Given the description of an element on the screen output the (x, y) to click on. 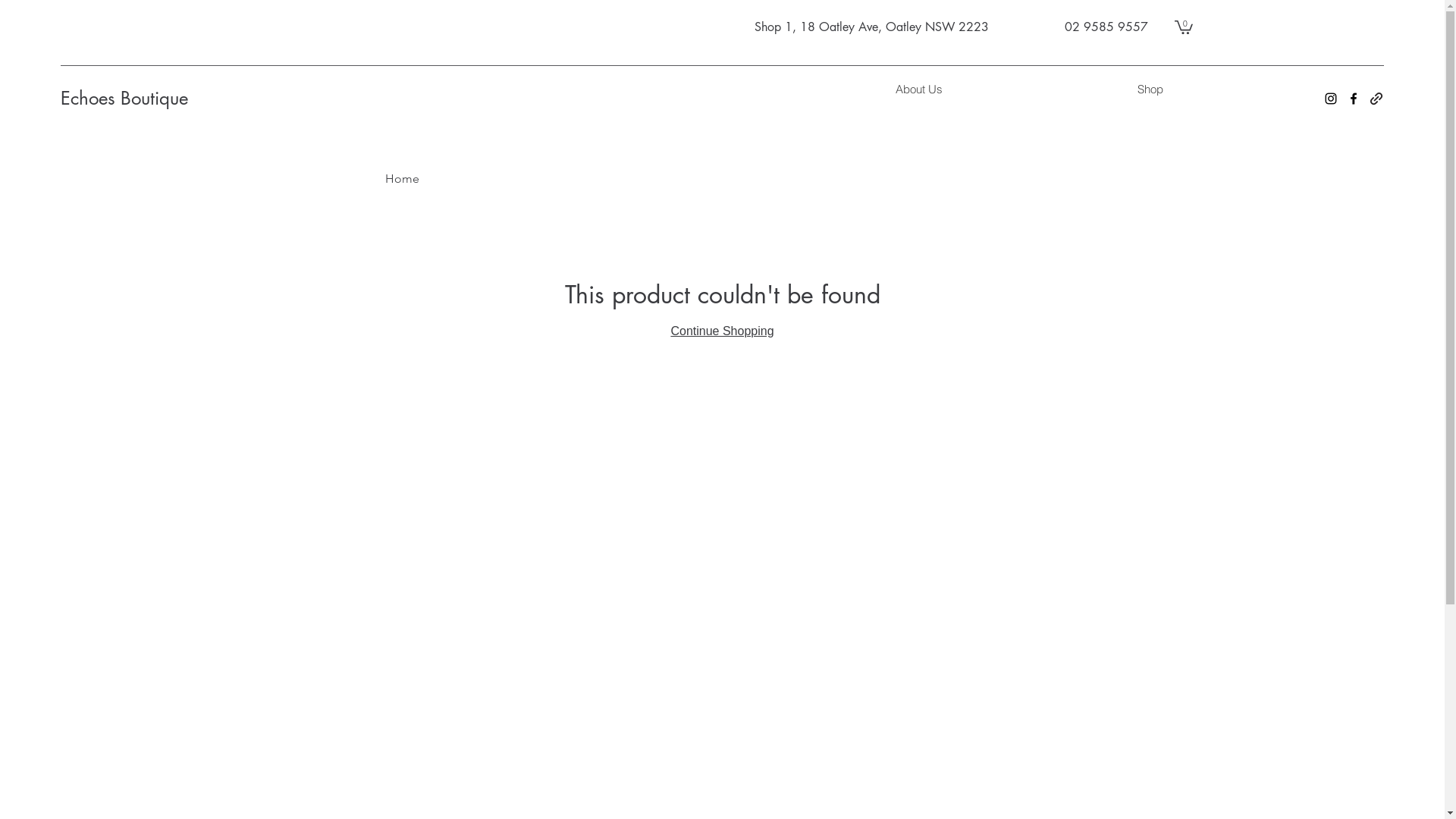
About Us Element type: text (918, 89)
Continue Shopping Element type: text (721, 330)
Home Element type: text (402, 178)
0 Element type: text (1183, 26)
